Given the description of an element on the screen output the (x, y) to click on. 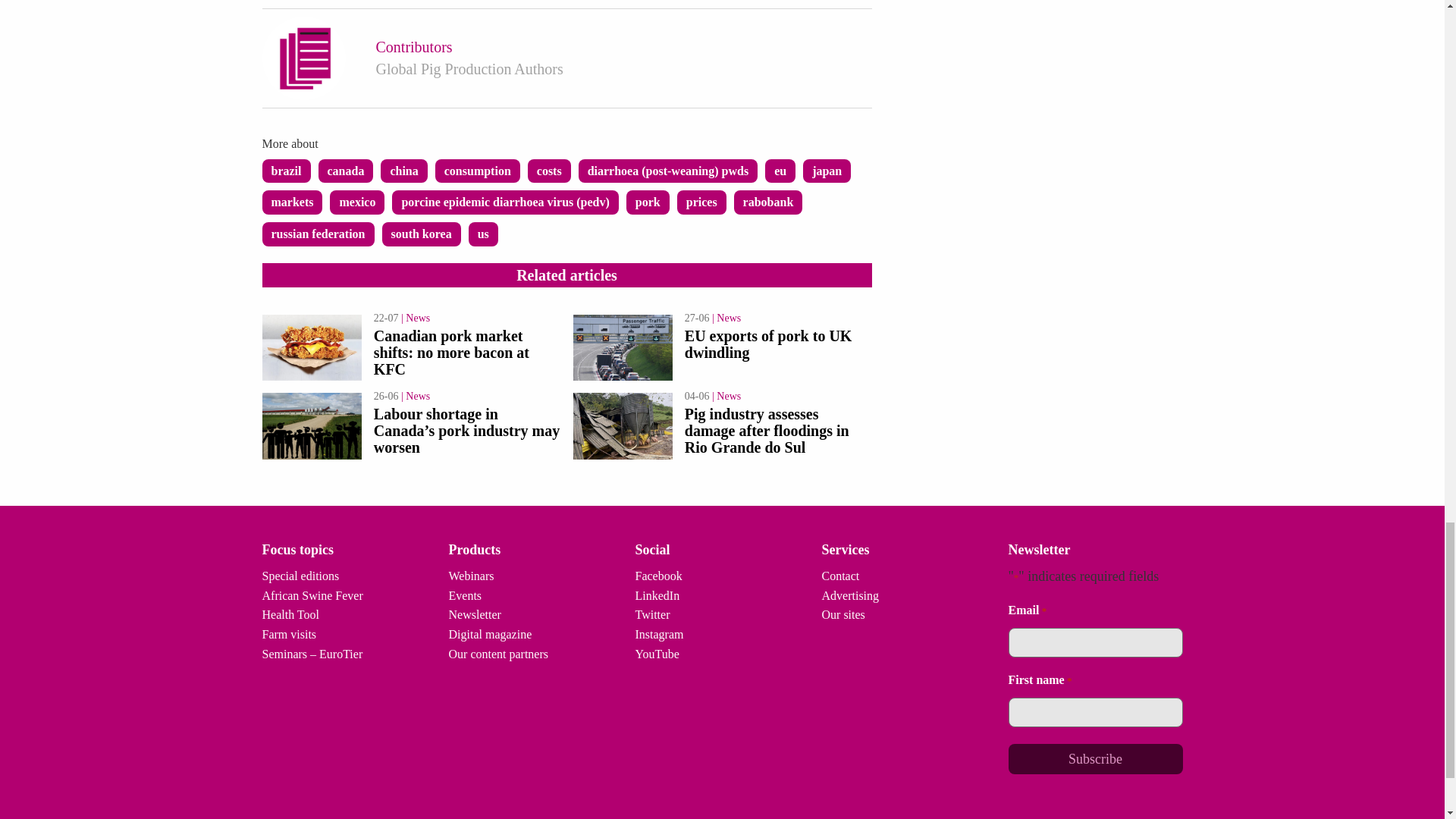
Subscribe (1095, 758)
